Given the description of an element on the screen output the (x, y) to click on. 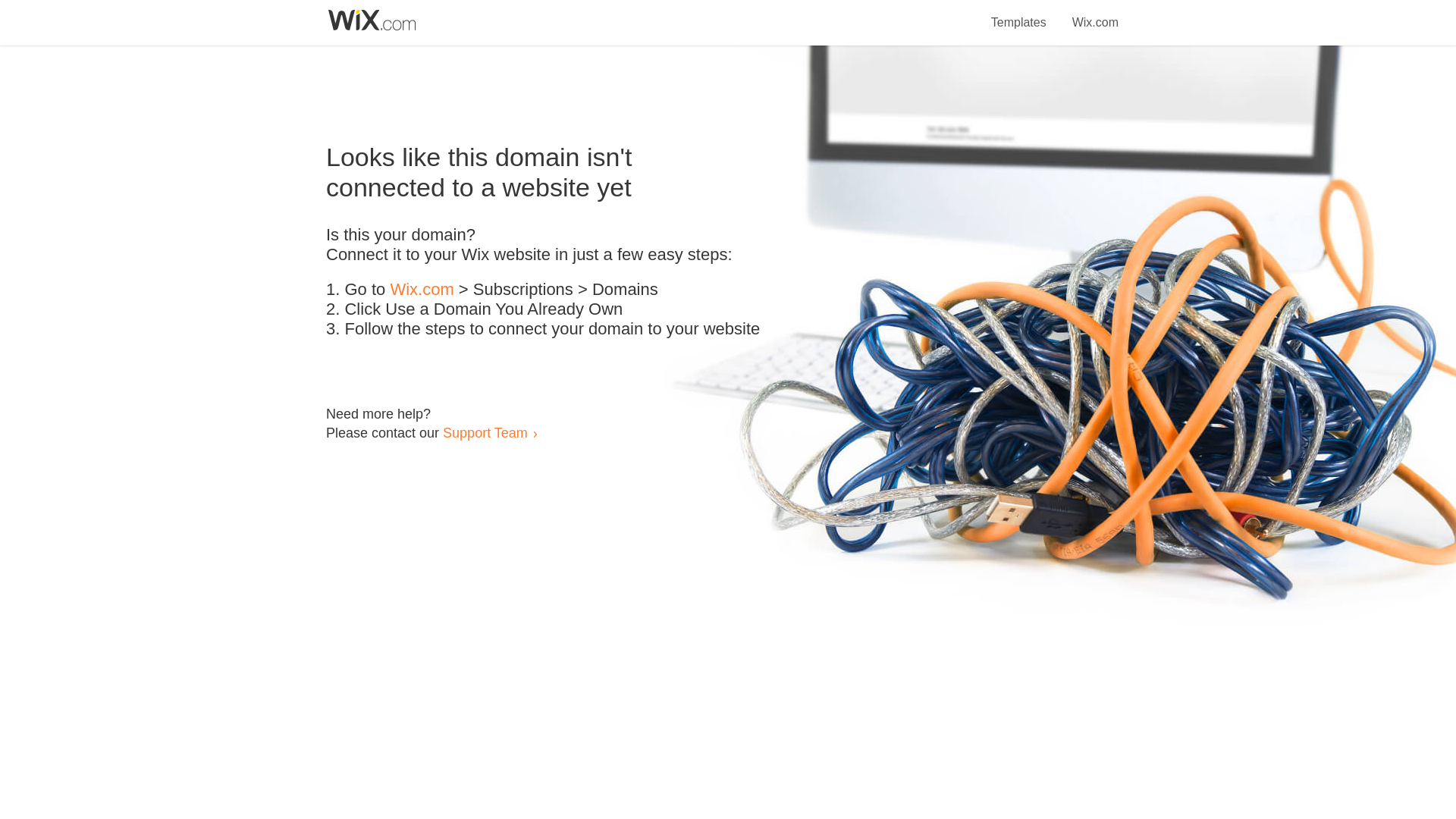
Wix.com (1095, 14)
Support Team (484, 432)
Templates (1018, 14)
Wix.com (421, 289)
